Given the description of an element on the screen output the (x, y) to click on. 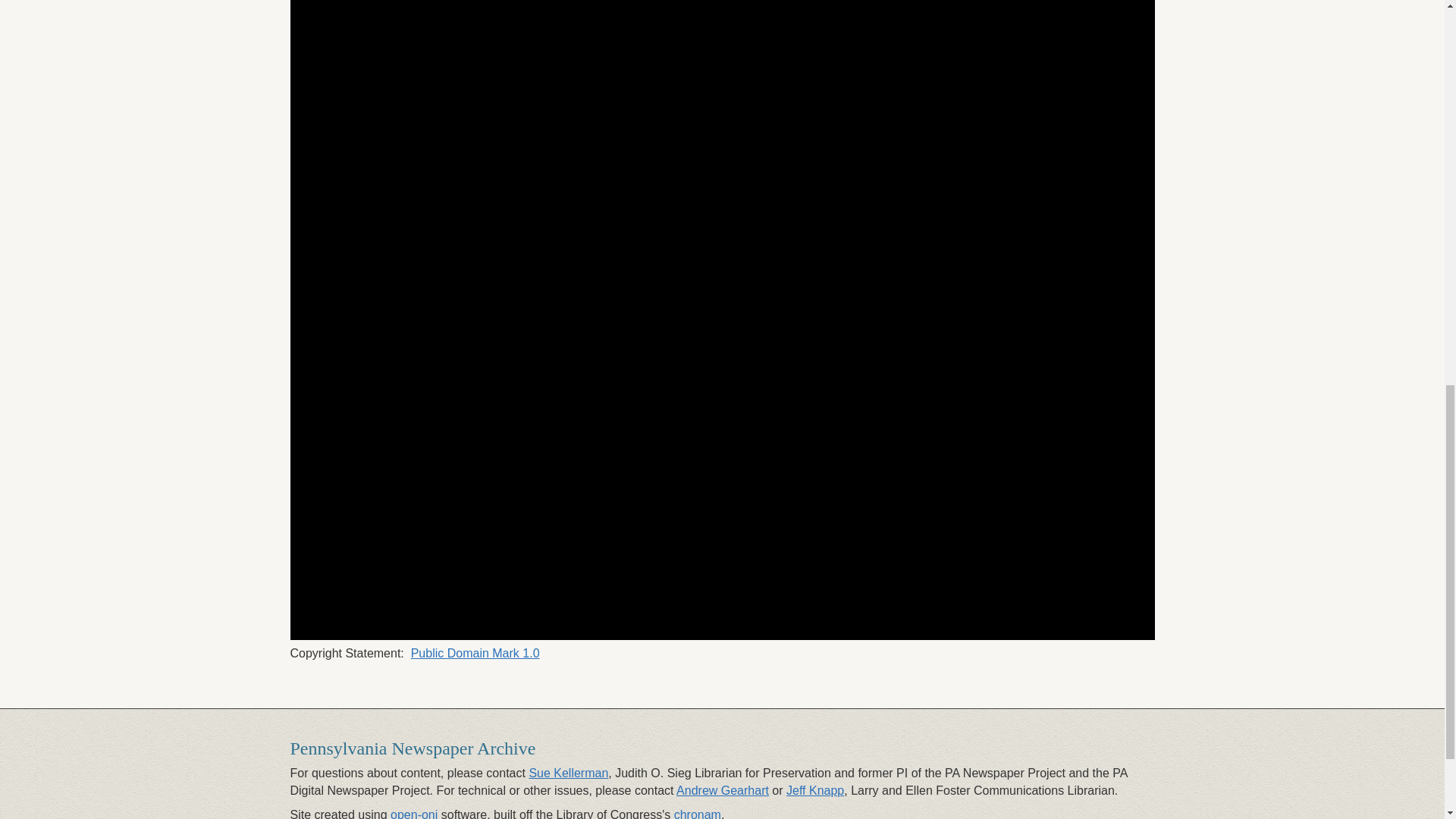
Public Domain Mark 1.0 (475, 653)
chronam (697, 813)
open-oni (414, 813)
Jeff Knapp (815, 789)
Sue Kellerman (568, 772)
Andrew Gearhart (722, 789)
